Given the description of an element on the screen output the (x, y) to click on. 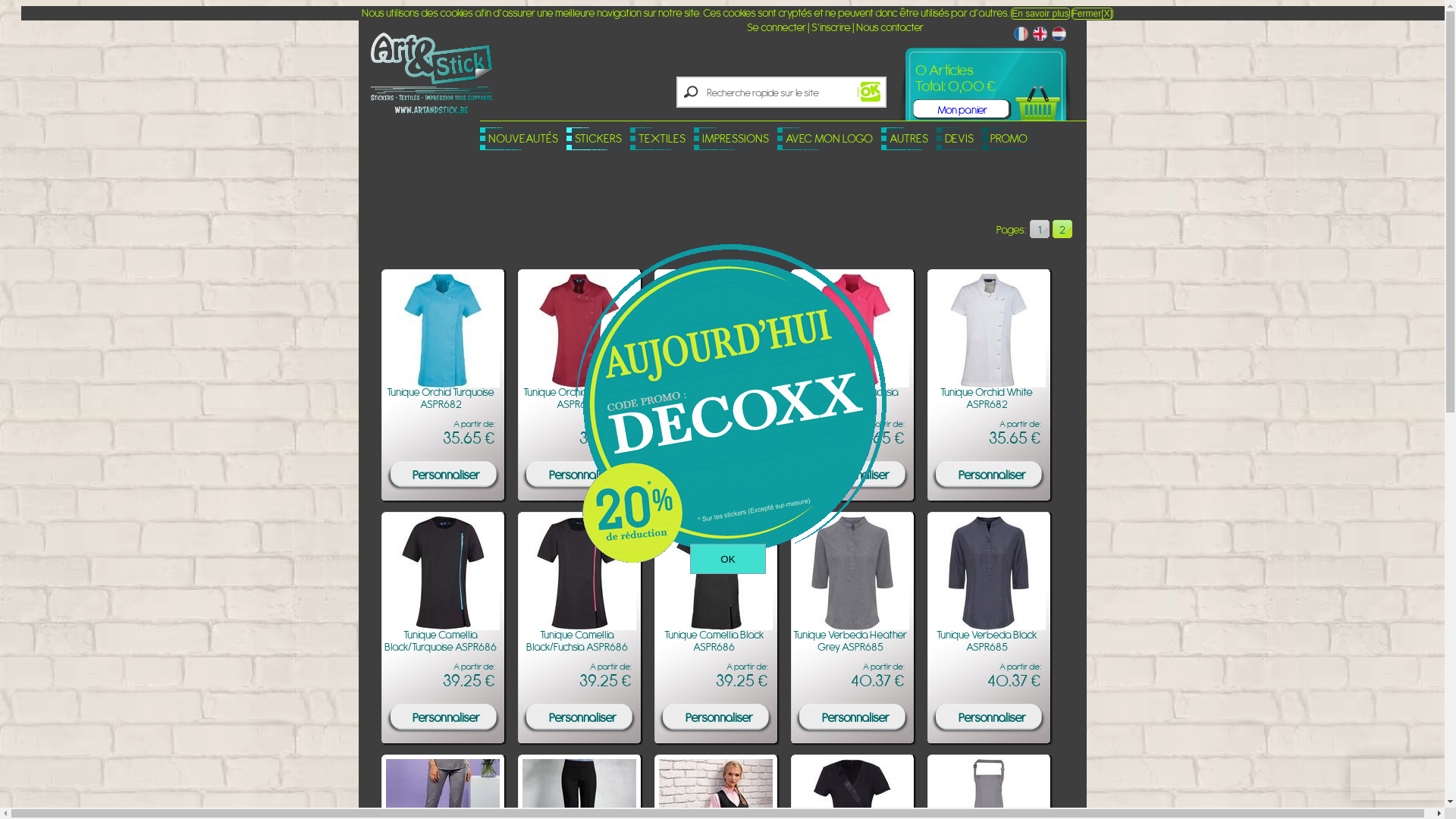
Fermer[X] Element type: text (1092, 13)
Se connecter Element type: text (775, 26)
AUTRES Element type: text (907, 138)
Personnaliser Element type: text (453, 494)
OK Button Element type: hover (866, 92)
IMPRESSIONS Element type: text (735, 138)
Mon panier Element type: text (950, 108)
AVEC MON LOGO Element type: text (829, 138)
2 Element type: text (1062, 228)
Recherche rapide sur le site Element type: hover (779, 92)
Personnaliser Element type: text (453, 737)
Personnaliser Element type: text (998, 494)
S'inscrire Element type: text (830, 26)
Personnaliser Element type: text (588, 494)
Nous contacter Element type: text (888, 26)
En savoir plus Element type: text (1039, 13)
Personnaliser Element type: text (861, 494)
Personnaliser Element type: text (588, 737)
STICKERS Element type: text (598, 138)
TEXTILES Element type: text (661, 138)
Personnaliser Element type: text (725, 737)
Personnaliser Element type: text (725, 494)
PROMO Element type: text (1008, 138)
Personnaliser Element type: text (861, 737)
Personnaliser Element type: text (998, 737)
DEVIS Element type: text (959, 138)
OK Element type: text (727, 558)
